Given the description of an element on the screen output the (x, y) to click on. 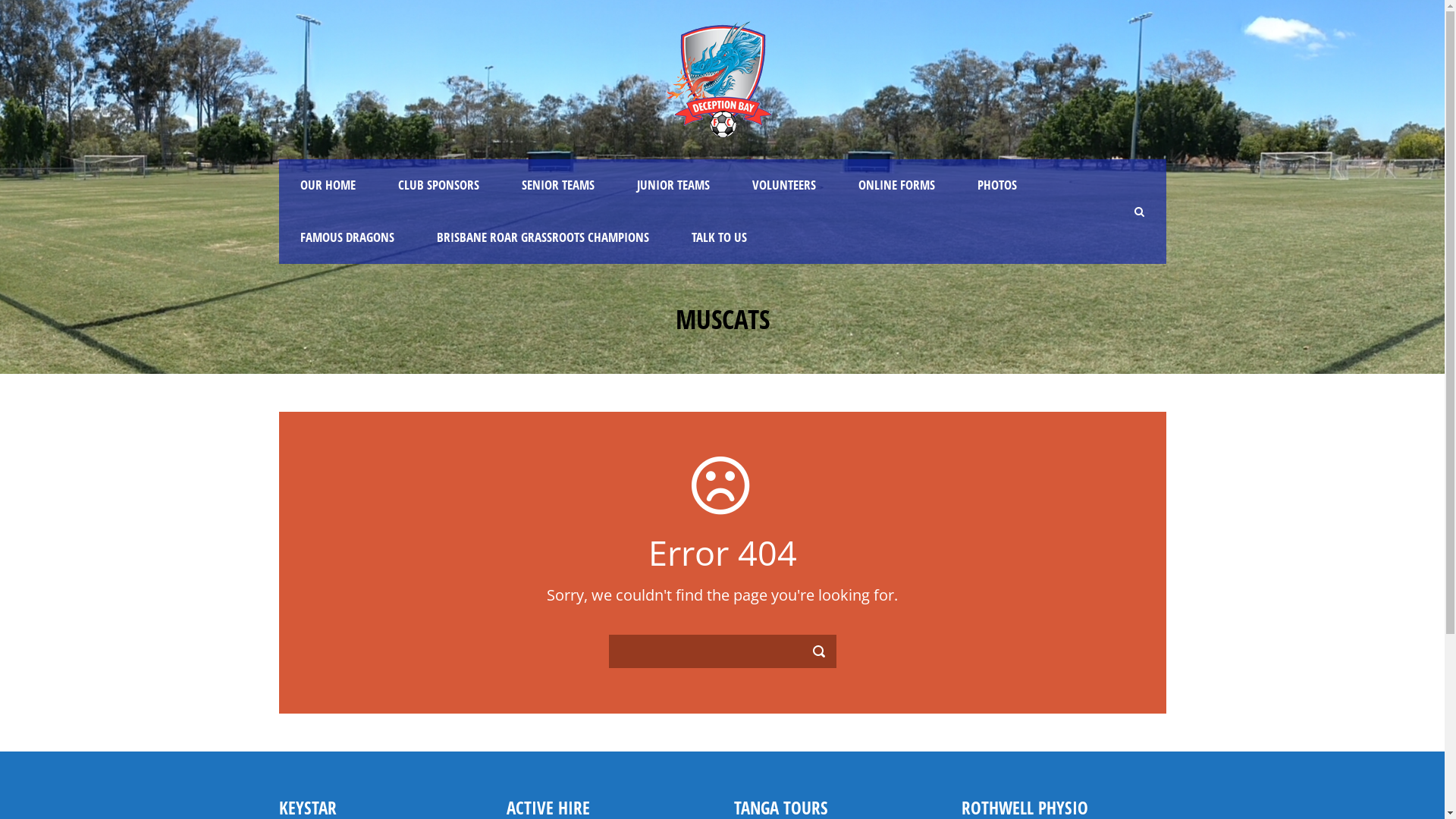
BRISBANE ROAR GRASSROOTS CHAMPIONS Element type: text (542, 237)
CLUB SPONSORS Element type: text (437, 185)
SENIOR TEAMS Element type: text (557, 185)
ONLINE FORMS Element type: text (896, 185)
TALK TO US Element type: text (719, 237)
VOLUNTEERS Element type: text (784, 185)
JUNIOR TEAMS Element type: text (673, 185)
OUR HOME Element type: text (327, 185)
FAMOUS DRAGONS Element type: text (347, 237)
PHOTOS Element type: text (996, 185)
